Given the description of an element on the screen output the (x, y) to click on. 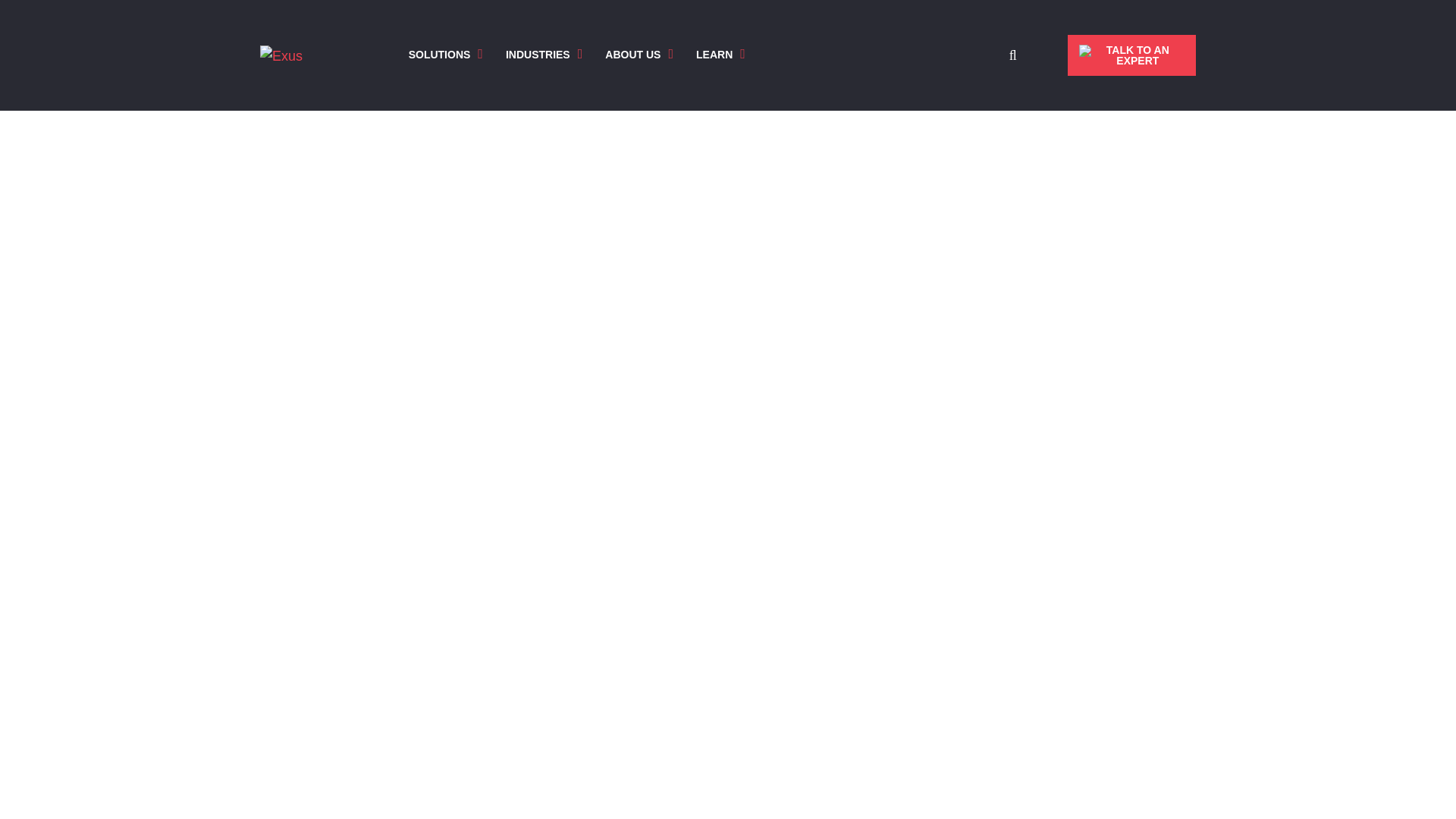
ABOUT US (633, 55)
LEARN (713, 55)
SOLUTIONS (439, 55)
INDUSTRIES (537, 55)
Exus (281, 55)
